Given the description of an element on the screen output the (x, y) to click on. 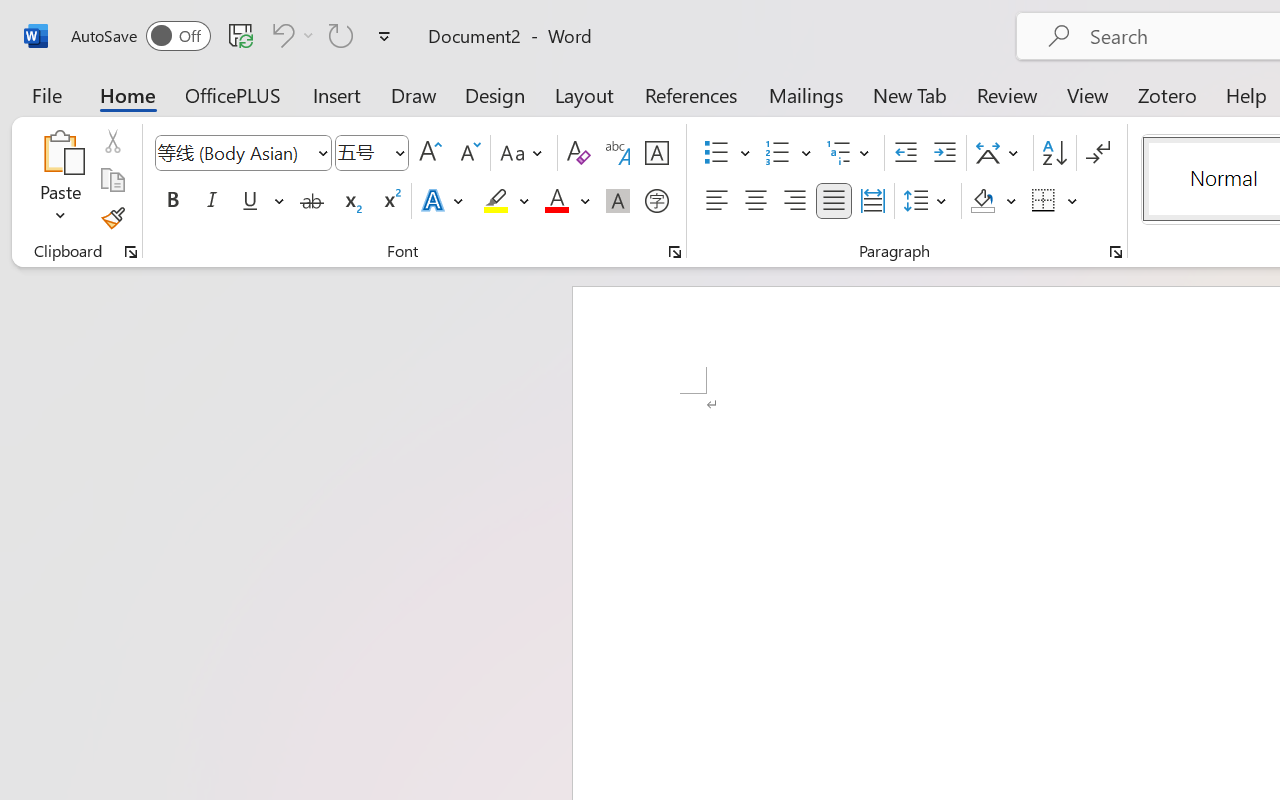
Numbering (788, 153)
Can't Undo (290, 35)
Cut (112, 141)
Zotero (1166, 94)
File Tab (46, 94)
Align Left (716, 201)
Format Painter (112, 218)
Borders (1055, 201)
Line and Paragraph Spacing (927, 201)
Numbering (778, 153)
Multilevel List (850, 153)
AutoSave (140, 35)
View (1087, 94)
Bold (172, 201)
Superscript (390, 201)
